Given the description of an element on the screen output the (x, y) to click on. 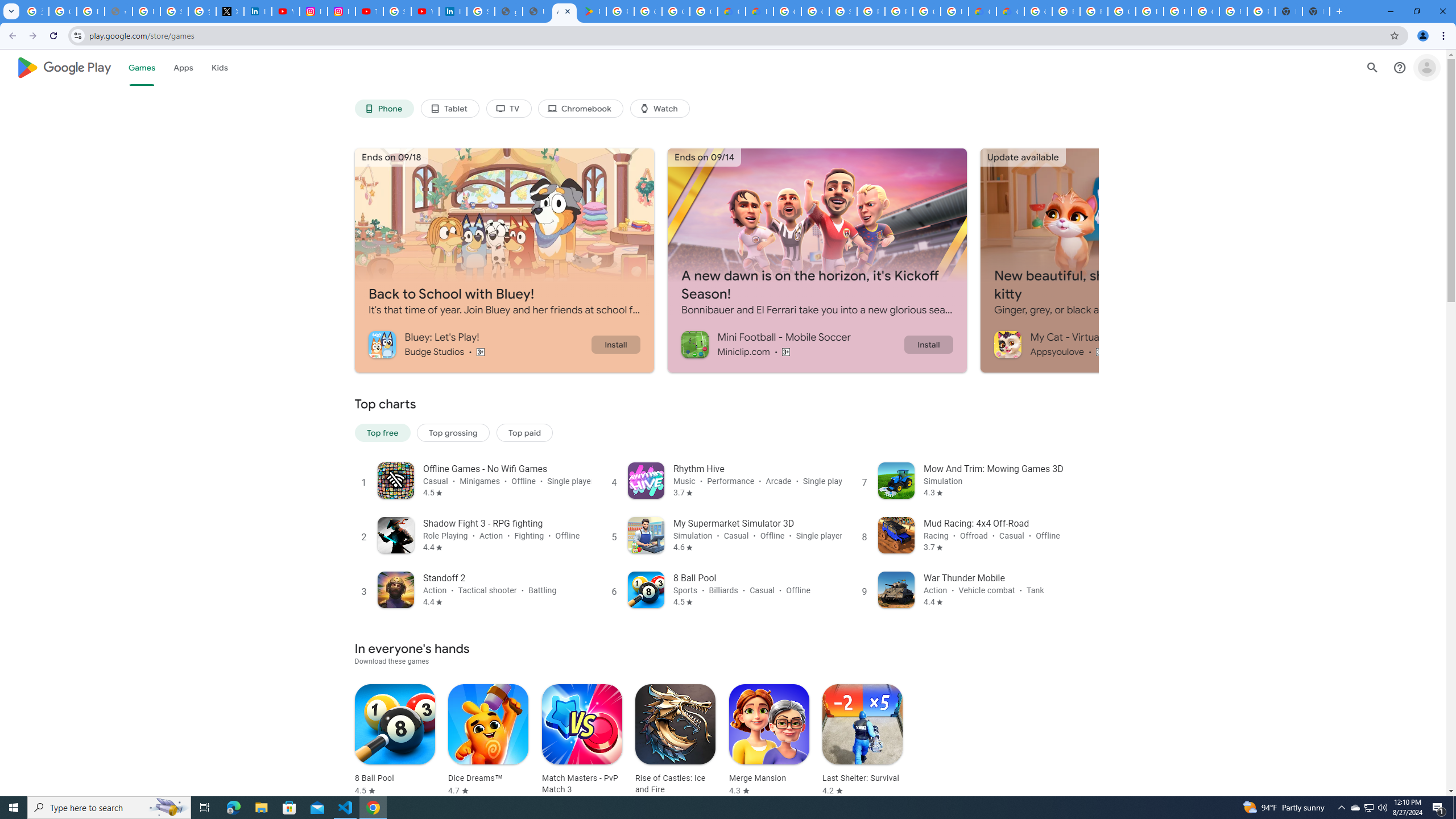
Watch (660, 108)
google_privacy_policy_en.pdf (508, 11)
Google Cloud Platform (1121, 11)
X (229, 11)
Sign in - Google Accounts (842, 11)
